Given the description of an element on the screen output the (x, y) to click on. 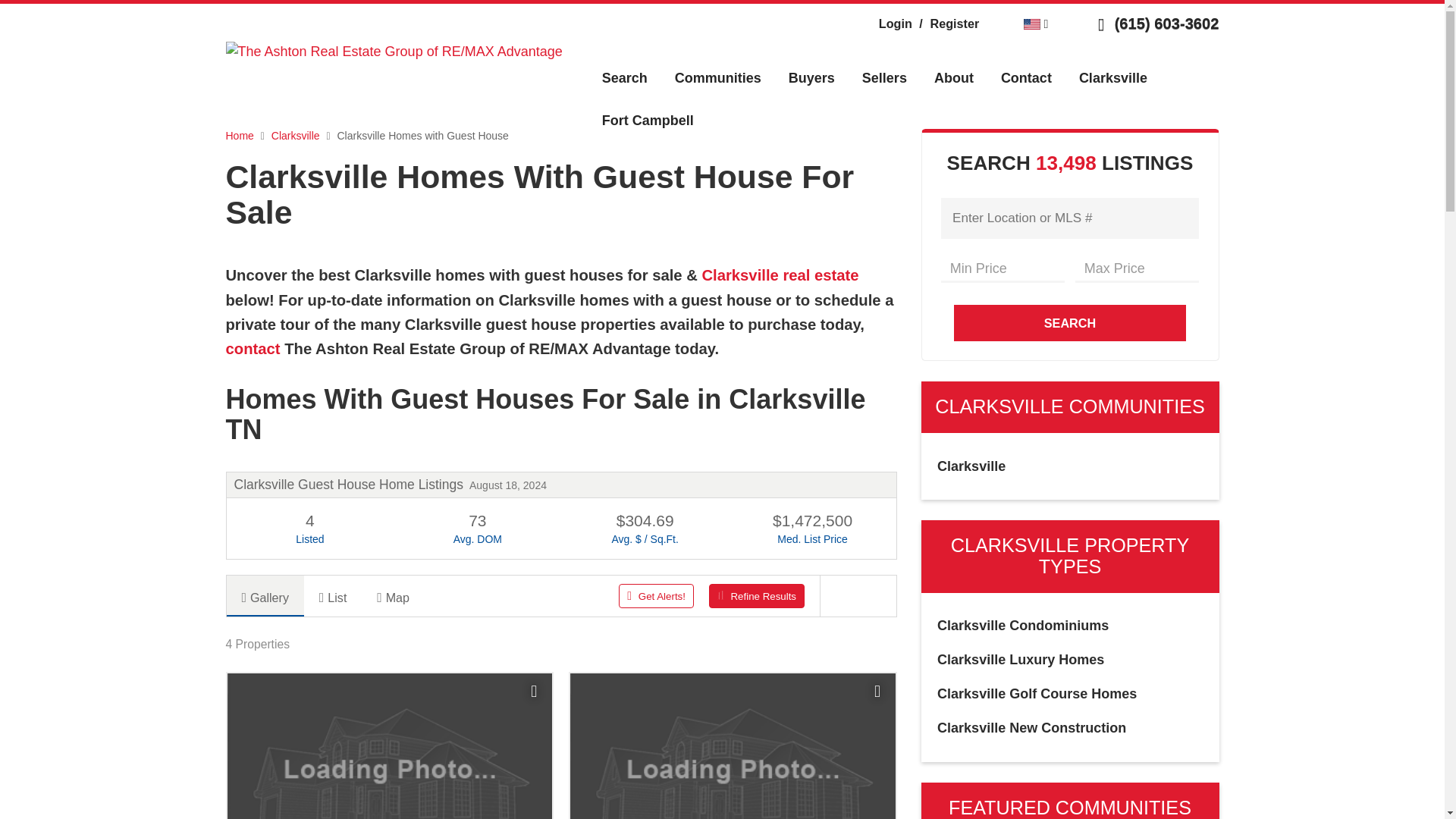
Login (895, 23)
Select Language (1035, 23)
Sellers (884, 77)
Communities (717, 77)
Home Page (393, 50)
Search (624, 77)
Register (946, 23)
Buyers (811, 77)
